Given the description of an element on the screen output the (x, y) to click on. 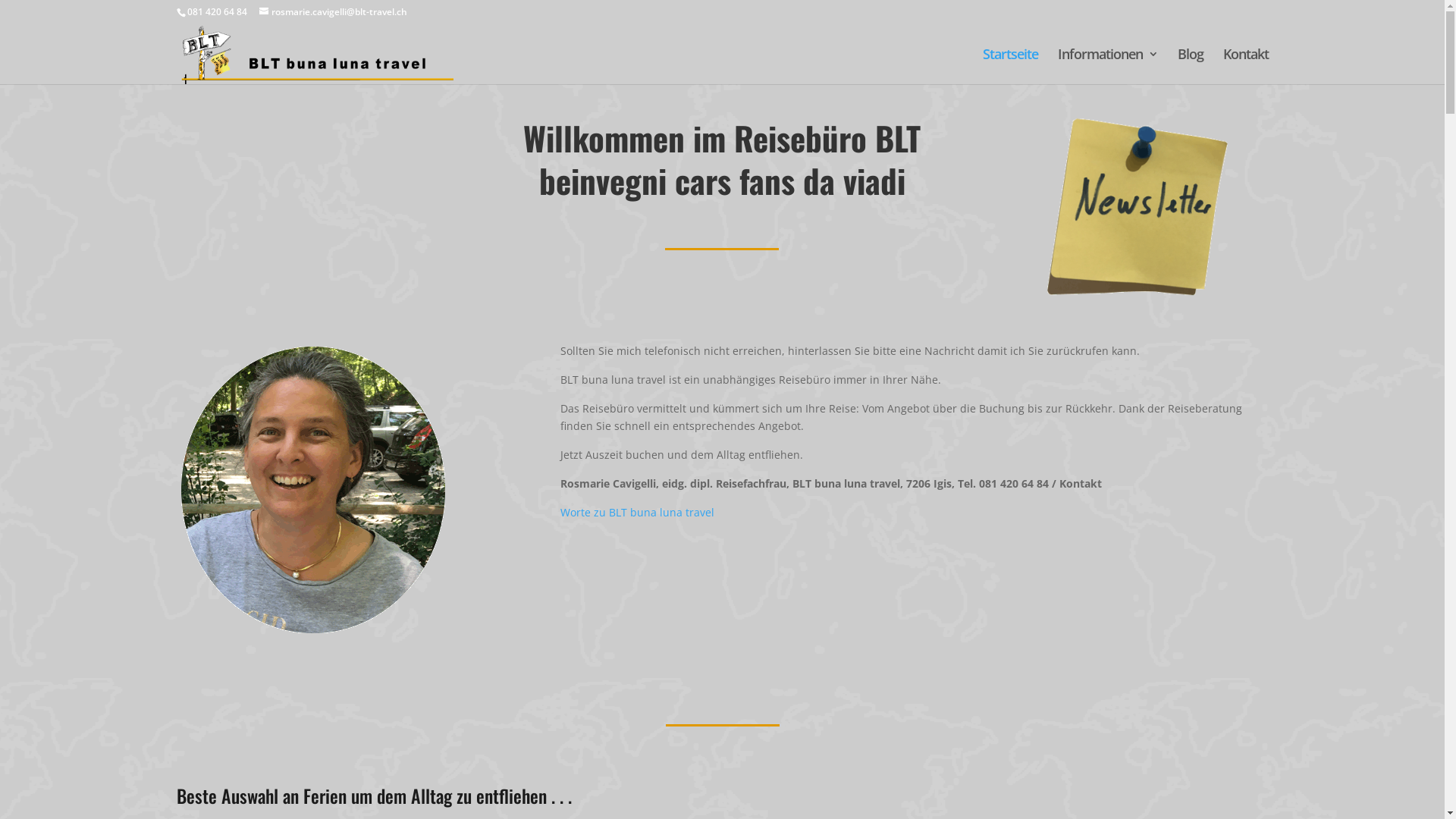
Informationen Element type: text (1107, 66)
Sicher dir deinen Newsletter Element type: hover (1135, 207)
3 Element type: hover (311, 489)
Startseite Element type: text (1010, 66)
081 420 64 84 Element type: text (216, 11)
Blog Element type: text (1189, 66)
Kontakt Element type: text (1244, 66)
Worte zu BLT buna luna travel Element type: text (637, 512)
rosmarie.cavigelli@blt-travel.ch Element type: text (333, 11)
